Given the description of an element on the screen output the (x, y) to click on. 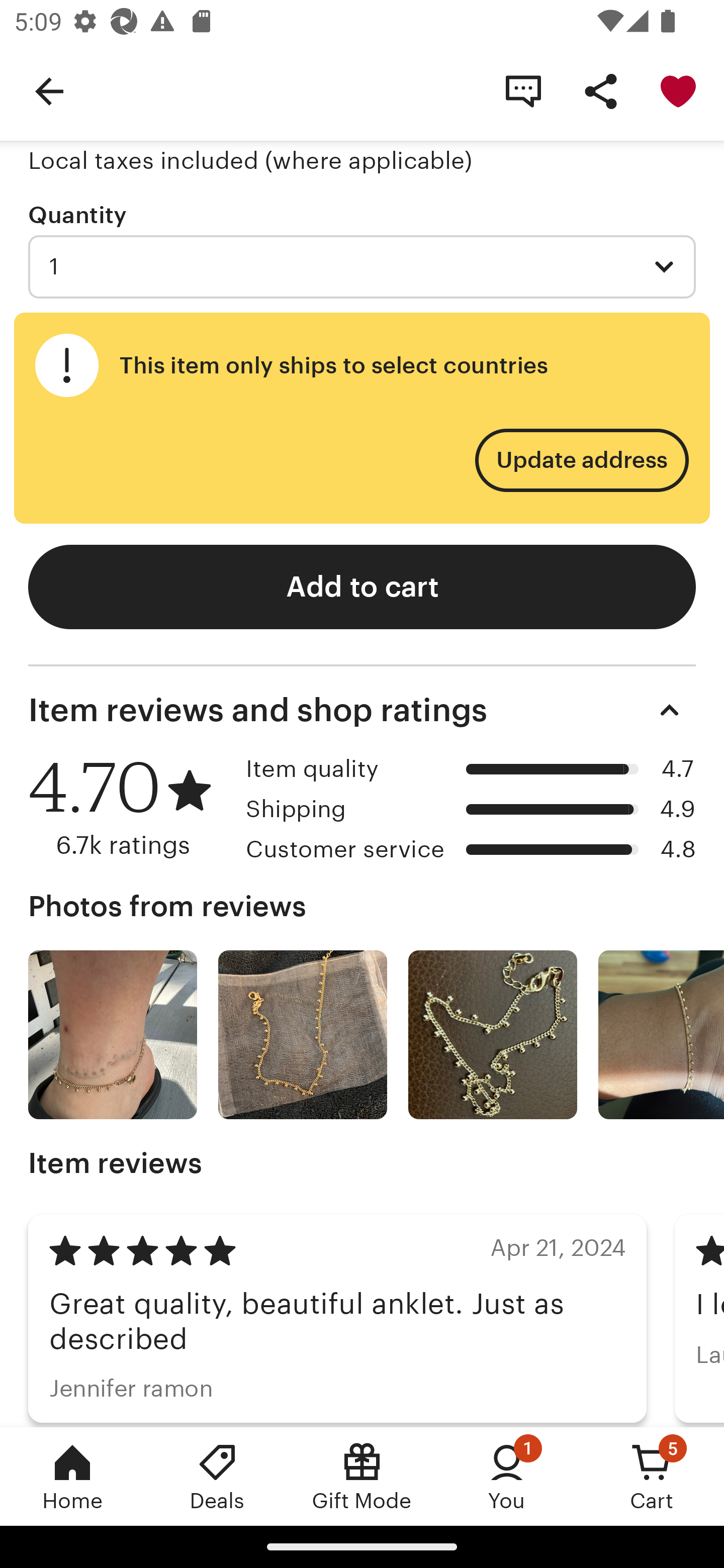
Navigate up (49, 90)
Contact shop (523, 90)
Share (600, 90)
Quantity (77, 215)
1 (361, 266)
Update address (581, 460)
Add to cart (361, 586)
Item reviews and shop ratings (362, 709)
4.70 6.7k ratings (129, 807)
Photo from review (112, 1034)
Photo from review (302, 1034)
Photo from review (492, 1034)
Photo from review (661, 1034)
Deals (216, 1475)
Gift Mode (361, 1475)
You, 1 new notification You (506, 1475)
Cart, 5 new notifications Cart (651, 1475)
